Given the description of an element on the screen output the (x, y) to click on. 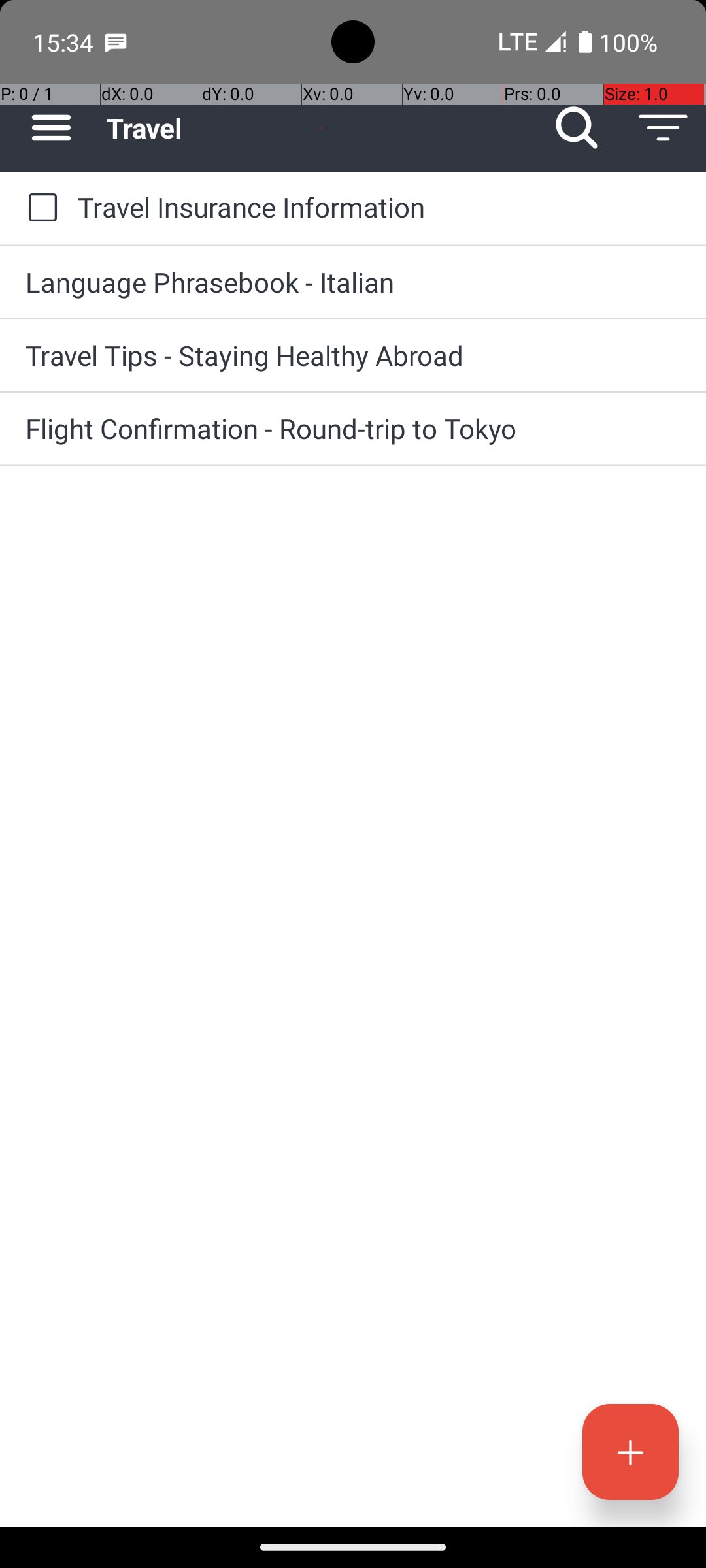
to-do: Travel Insurance Information Element type: android.widget.CheckBox (38, 208)
Travel Insurance Information Element type: android.widget.TextView (378, 206)
Language Phrasebook - Italian Element type: android.widget.TextView (352, 281)
Travel Tips - Staying Healthy Abroad Element type: android.widget.TextView (352, 354)
Flight Confirmation - Round-trip to Tokyo Element type: android.widget.TextView (352, 427)
